Given the description of an element on the screen output the (x, y) to click on. 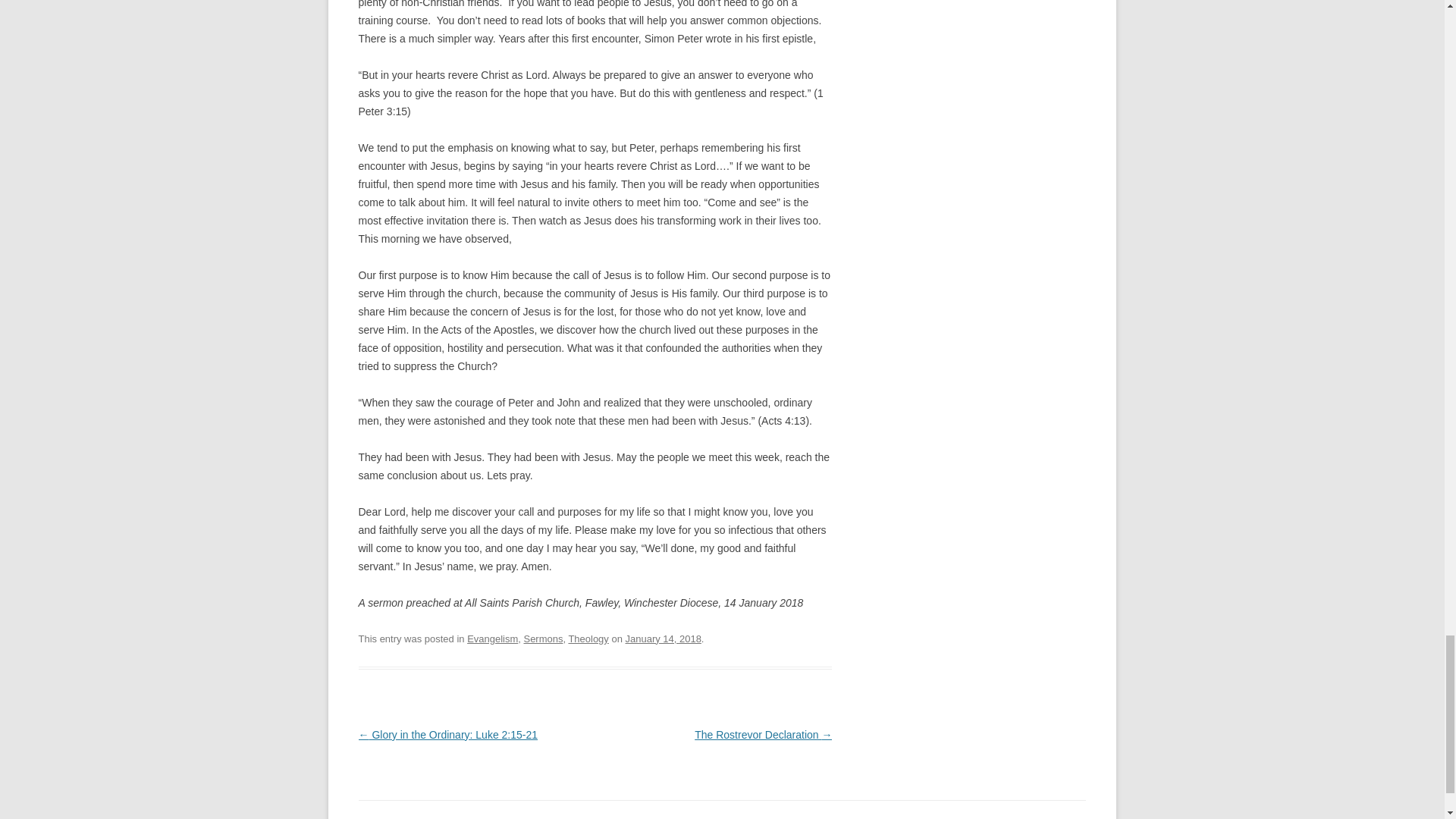
January 14, 2018 (663, 638)
Sermons (542, 638)
5:12 pm (663, 638)
Evangelism (492, 638)
Theology (587, 638)
